Given the description of an element on the screen output the (x, y) to click on. 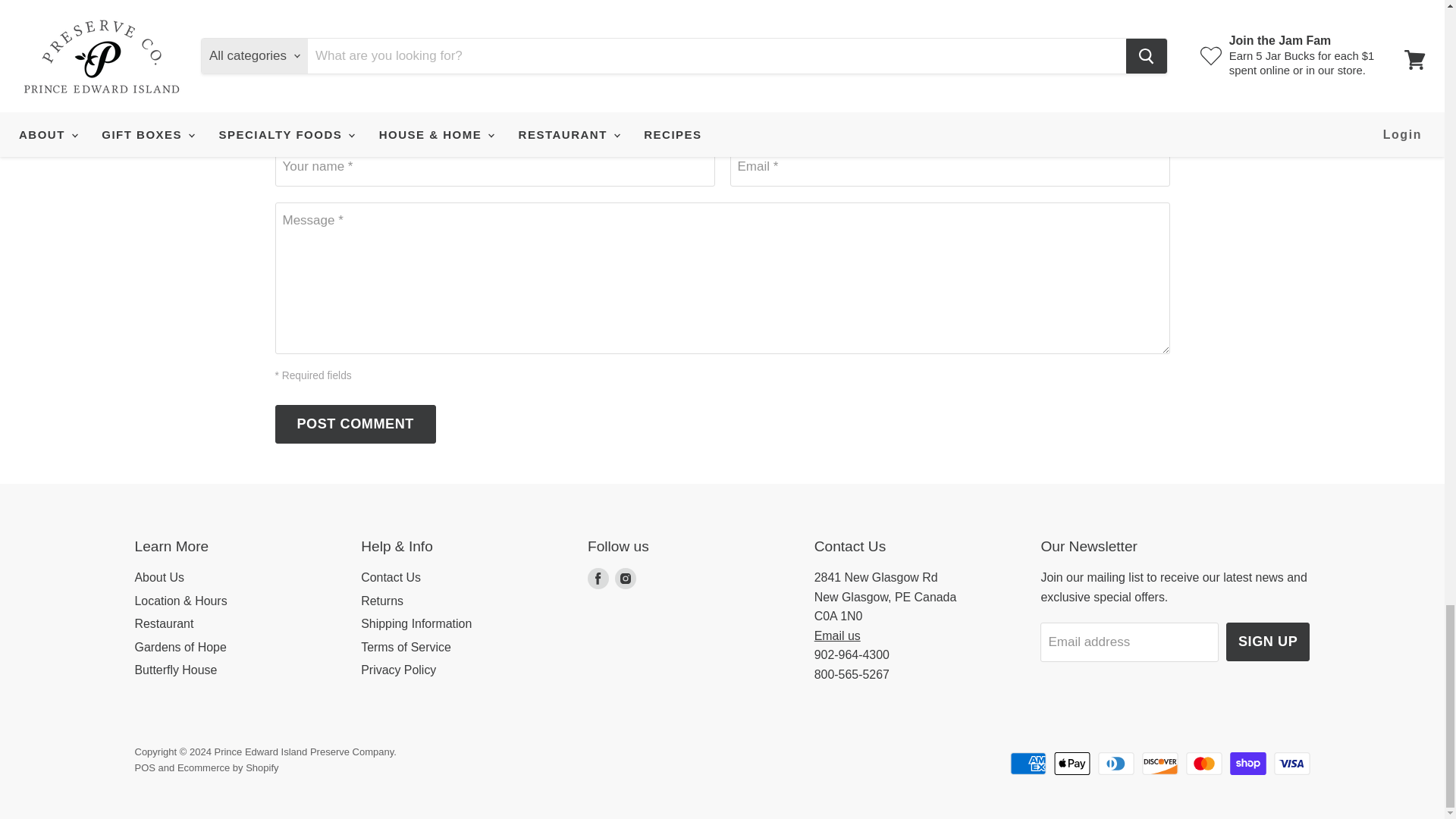
American Express (1028, 763)
Facebook (598, 578)
Discover (1159, 763)
Apple Pay (1072, 763)
Diners Club (1115, 763)
Instagram (625, 578)
